Given the description of an element on the screen output the (x, y) to click on. 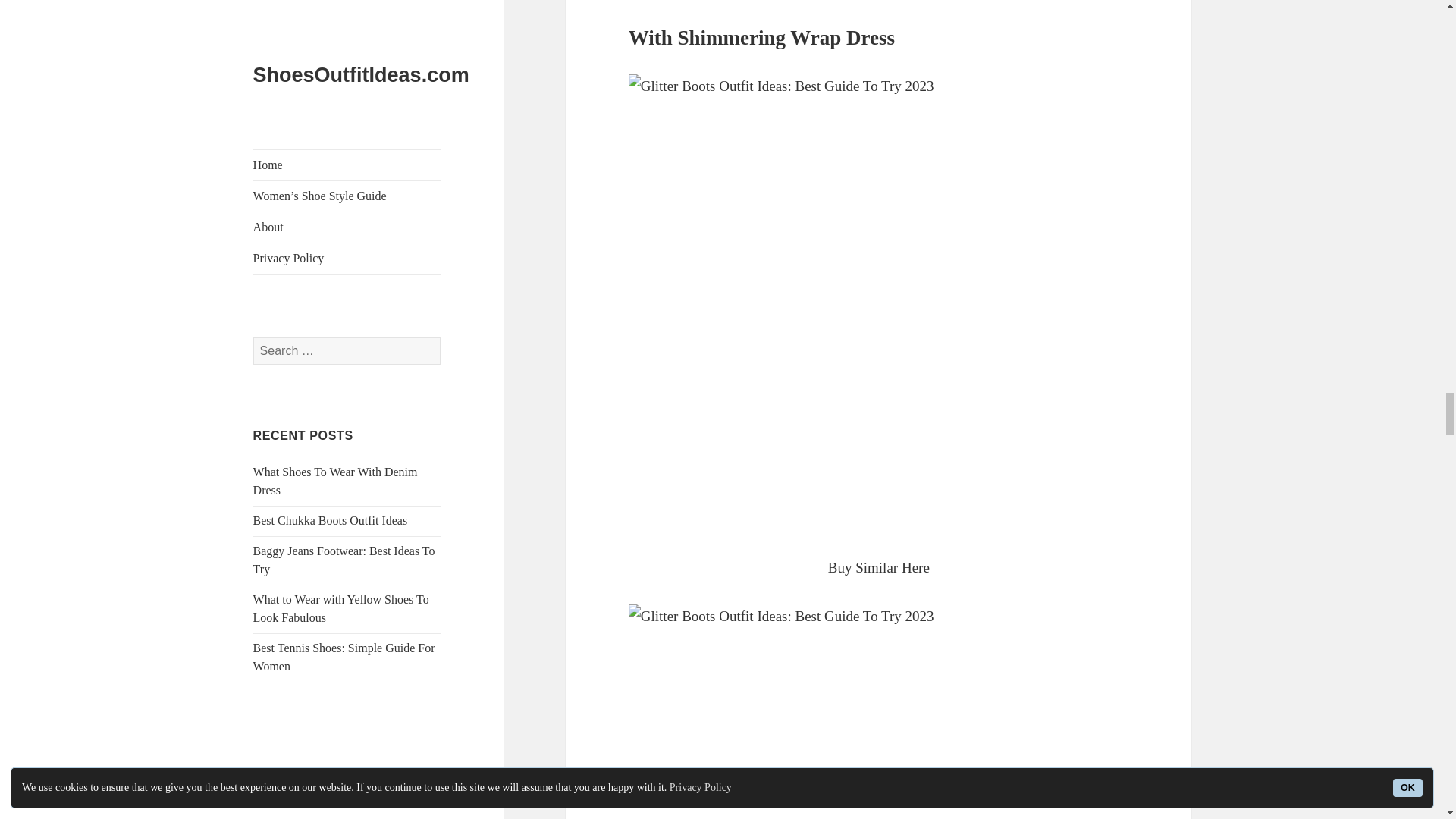
Buy Similar Here (879, 567)
Glitter Boots Outfit Ideas: Best Guide To Try 2023 (878, 711)
